Given the description of an element on the screen output the (x, y) to click on. 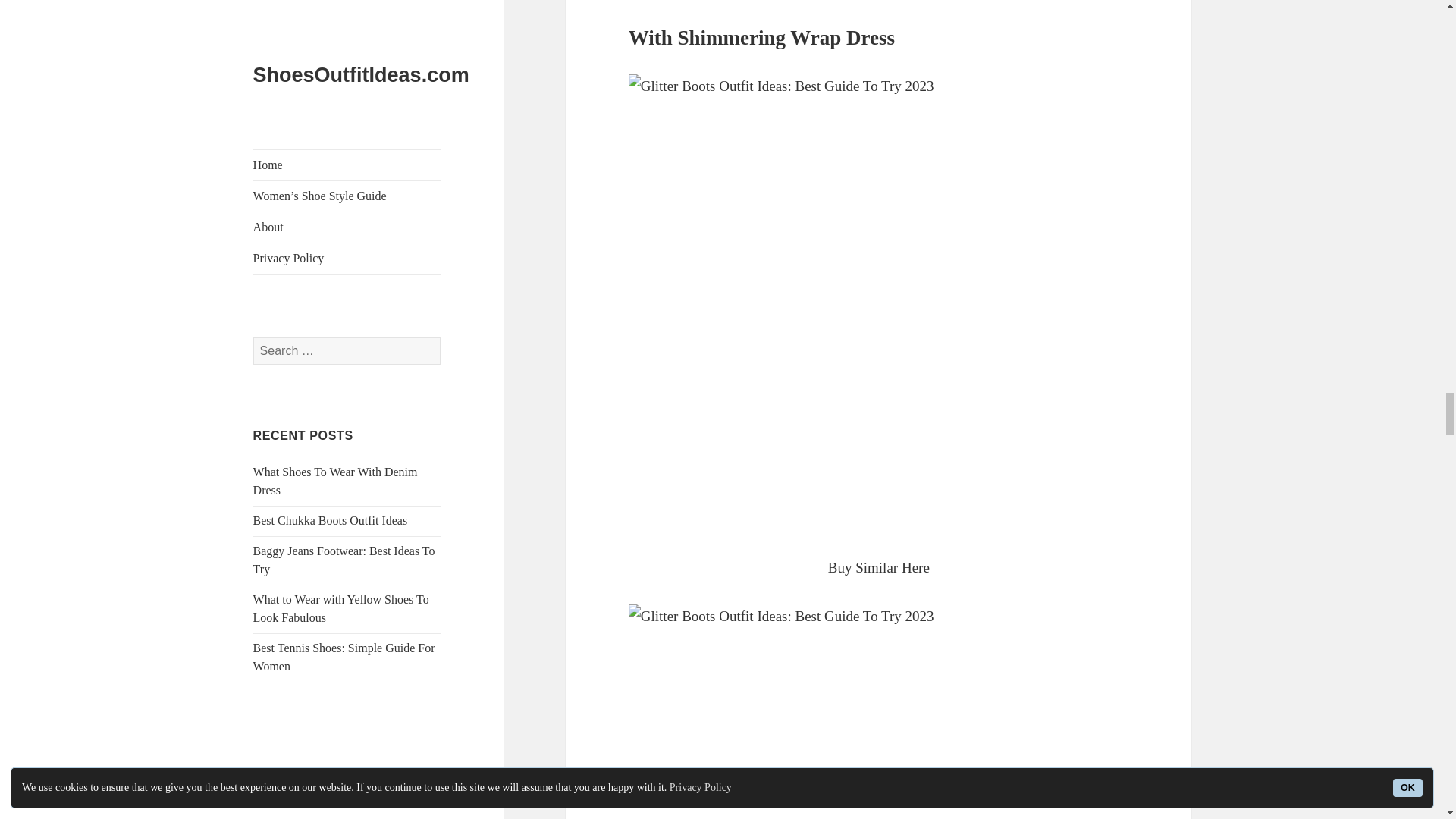
Buy Similar Here (879, 567)
Glitter Boots Outfit Ideas: Best Guide To Try 2023 (878, 711)
